Given the description of an element on the screen output the (x, y) to click on. 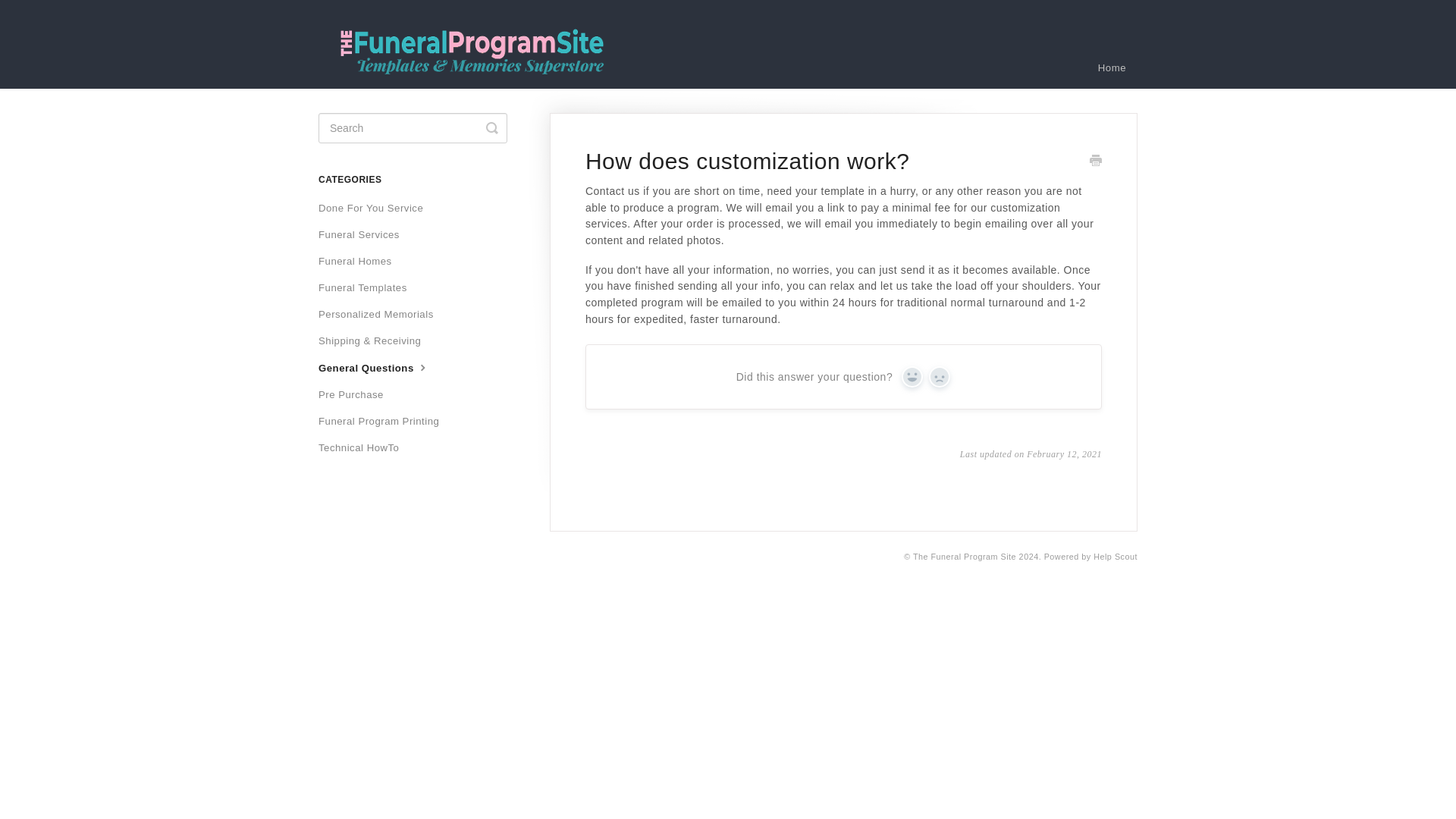
Pre Purchase (356, 395)
Home (1111, 67)
Help Scout (1115, 556)
Done For You Service (375, 208)
search-query (412, 128)
Technical HowTo (364, 447)
No (939, 375)
Funeral Services (364, 234)
Funeral Homes (360, 261)
Personalized Memorials (381, 314)
The Funeral Program Site (964, 556)
Funeral Program Printing (383, 421)
General Questions (380, 367)
Yes (912, 375)
Funeral Templates (368, 288)
